Given the description of an element on the screen output the (x, y) to click on. 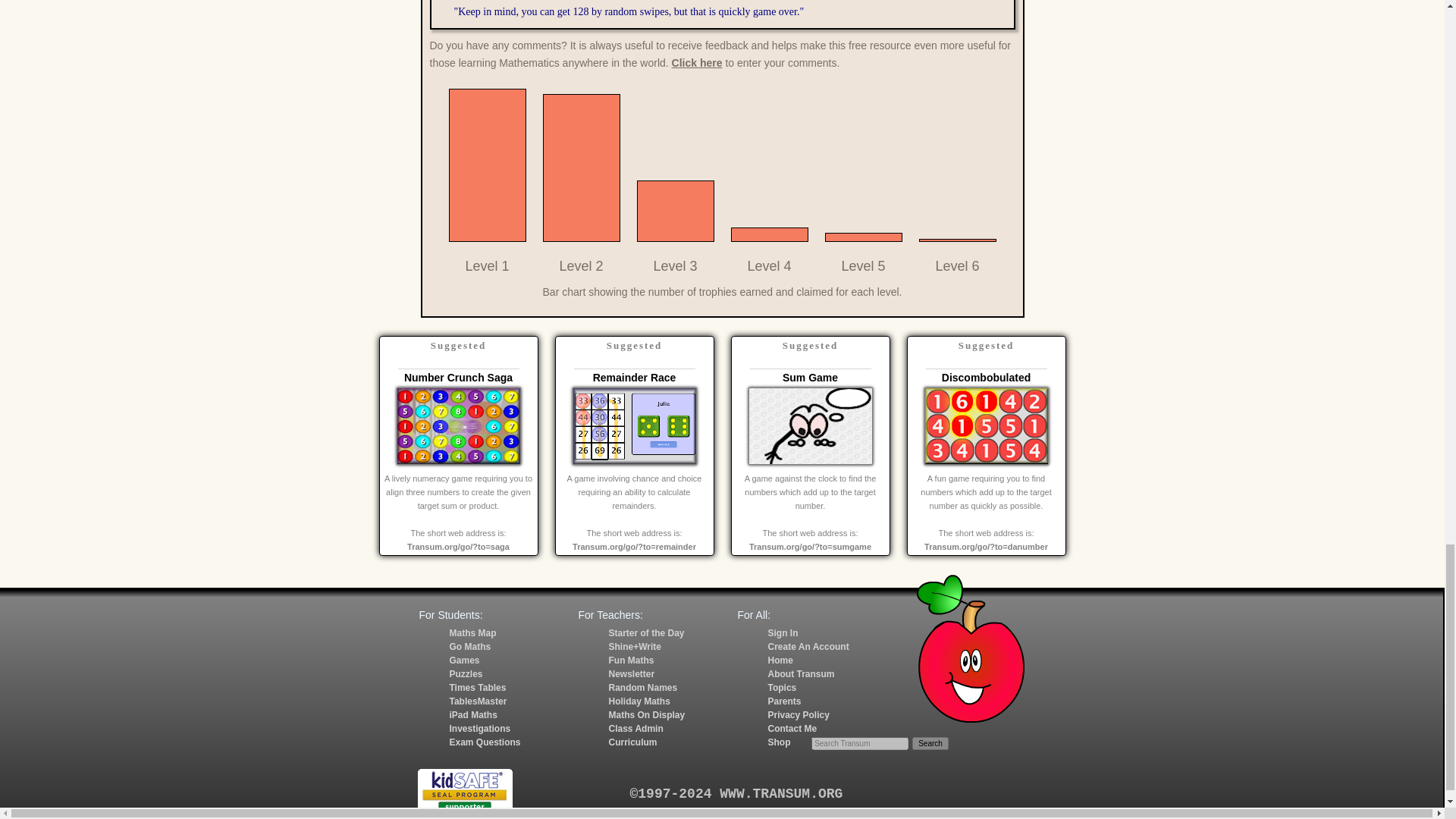
Games (463, 660)
An online multiplication table speed test (477, 701)
Maths On Display (646, 715)
Your chance to be a Mathematics detective (479, 728)
Newsletter (630, 674)
Mathematical puzzles and challenges (464, 674)
Home (779, 660)
Click here (696, 62)
36 trophies (956, 240)
